Given the description of an element on the screen output the (x, y) to click on. 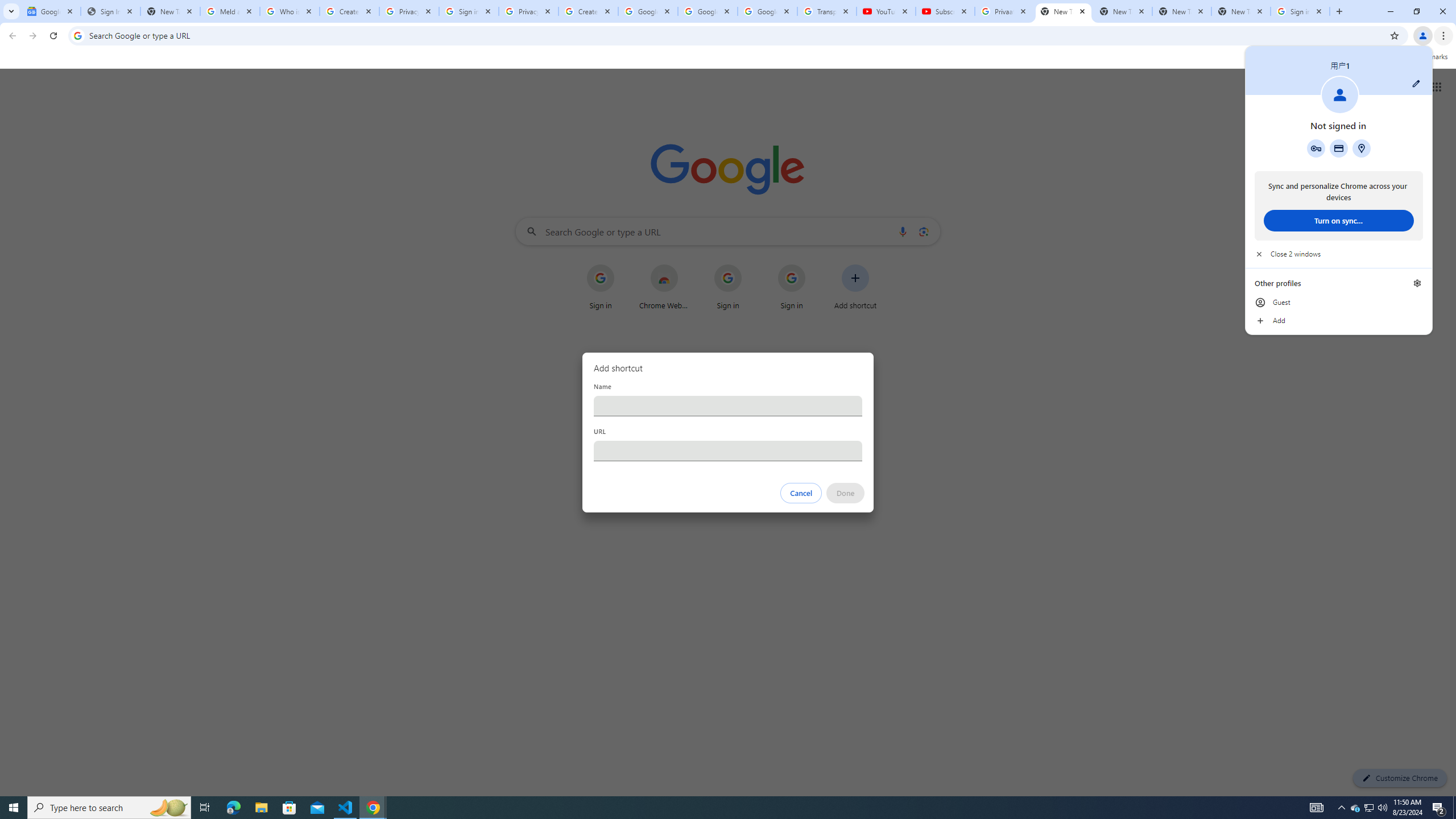
Subscriptions - YouTube (944, 11)
Action Center, 2 new notifications (1439, 807)
Microsoft Store (289, 807)
Google Chrome - 2 running windows (373, 807)
YouTube (885, 11)
Cancel (801, 493)
